Given the description of an element on the screen output the (x, y) to click on. 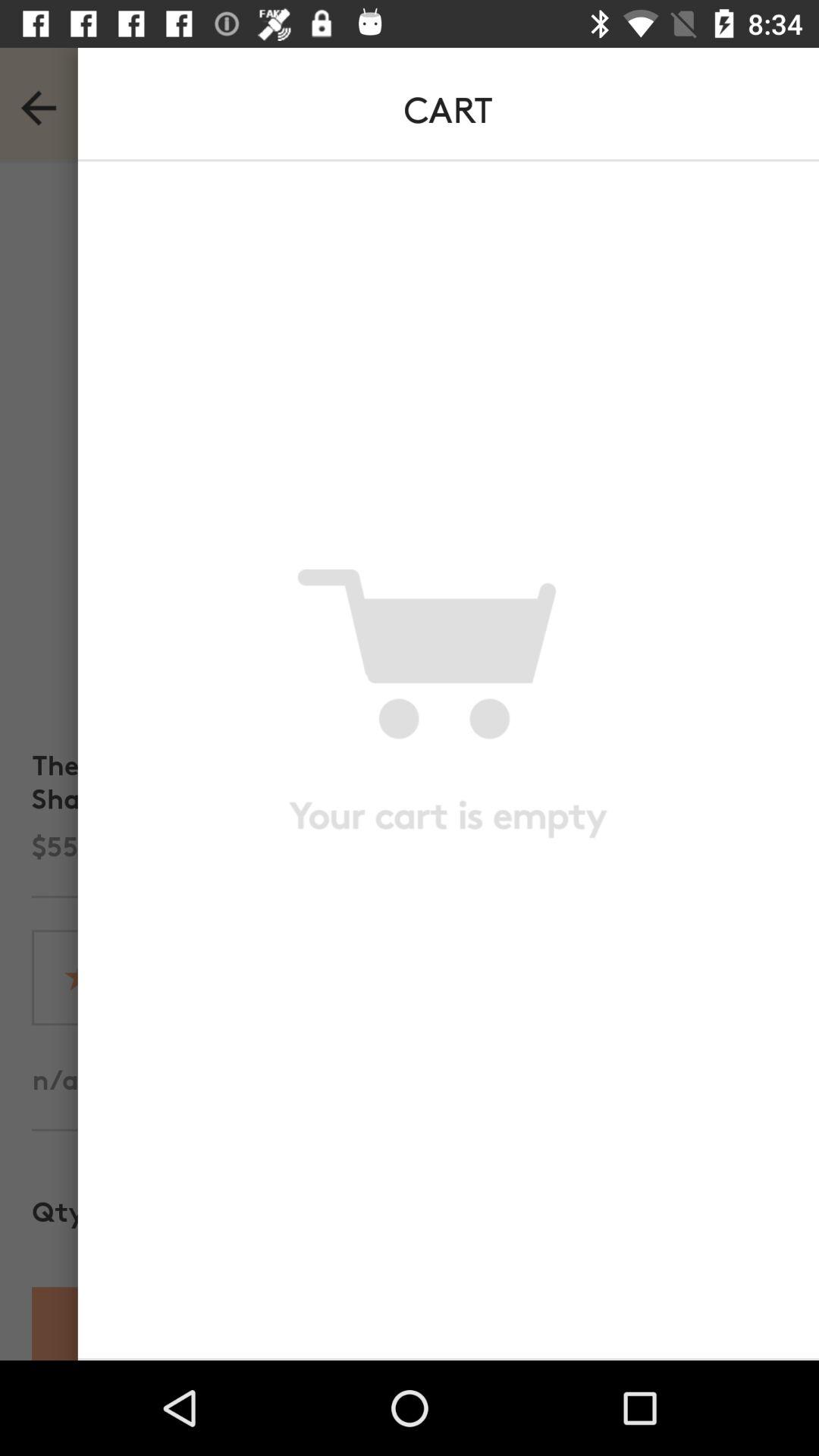
text in top middle of the page (357, 102)
